Given the description of an element on the screen output the (x, y) to click on. 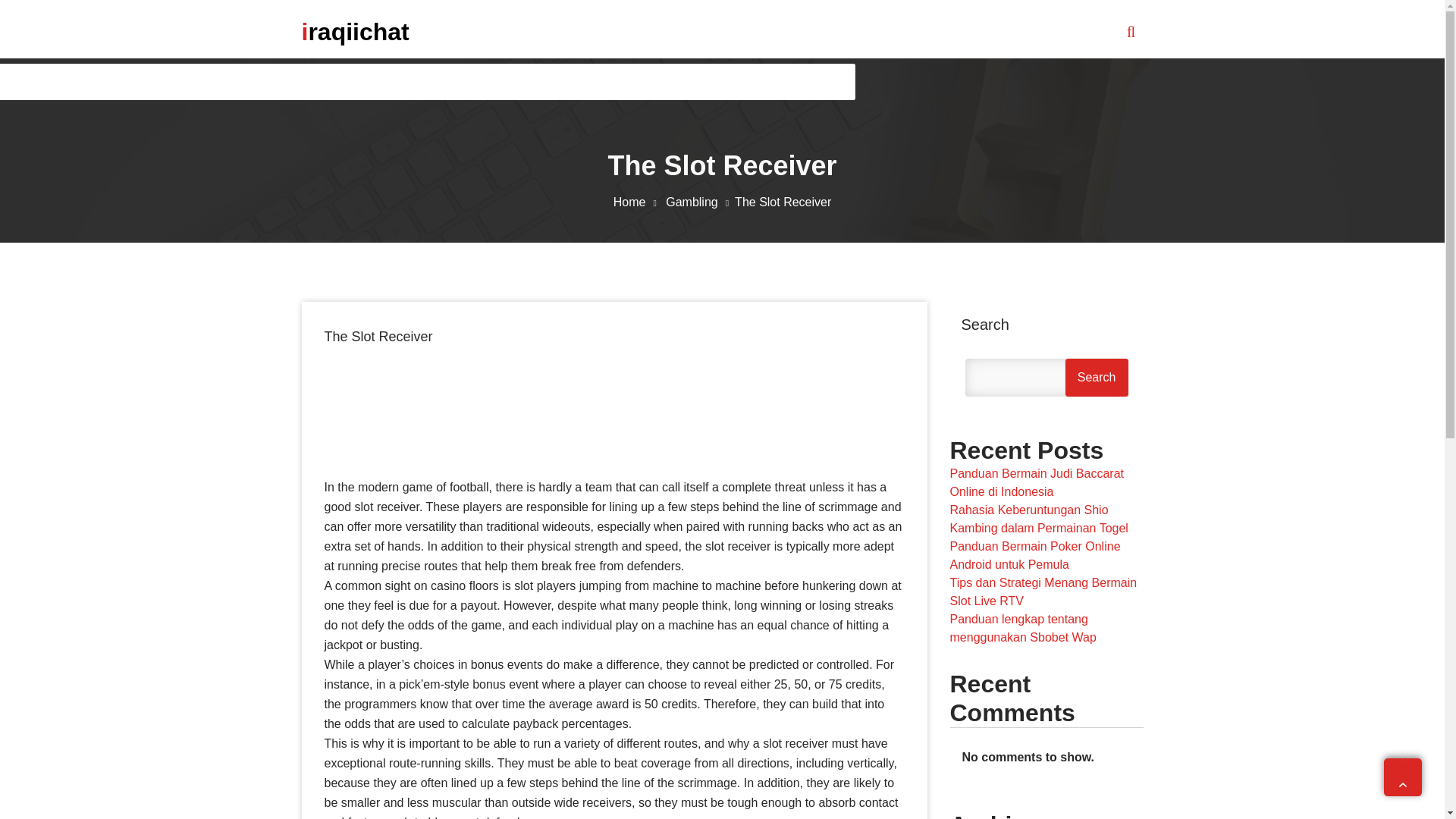
Rahasia Keberuntungan Shio Kambing dalam Permainan Togel (1037, 518)
Home (637, 201)
Search (1096, 377)
Tips dan Strategi Menang Bermain Slot Live RTV (1043, 591)
iraqiichat (355, 31)
Gambling (700, 201)
Panduan Bermain Poker Online Android untuk Pemula (1034, 554)
Panduan Bermain Judi Baccarat Online di Indonesia (1035, 481)
Panduan lengkap tentang menggunakan Sbobet Wap (1022, 627)
